Given the description of an element on the screen output the (x, y) to click on. 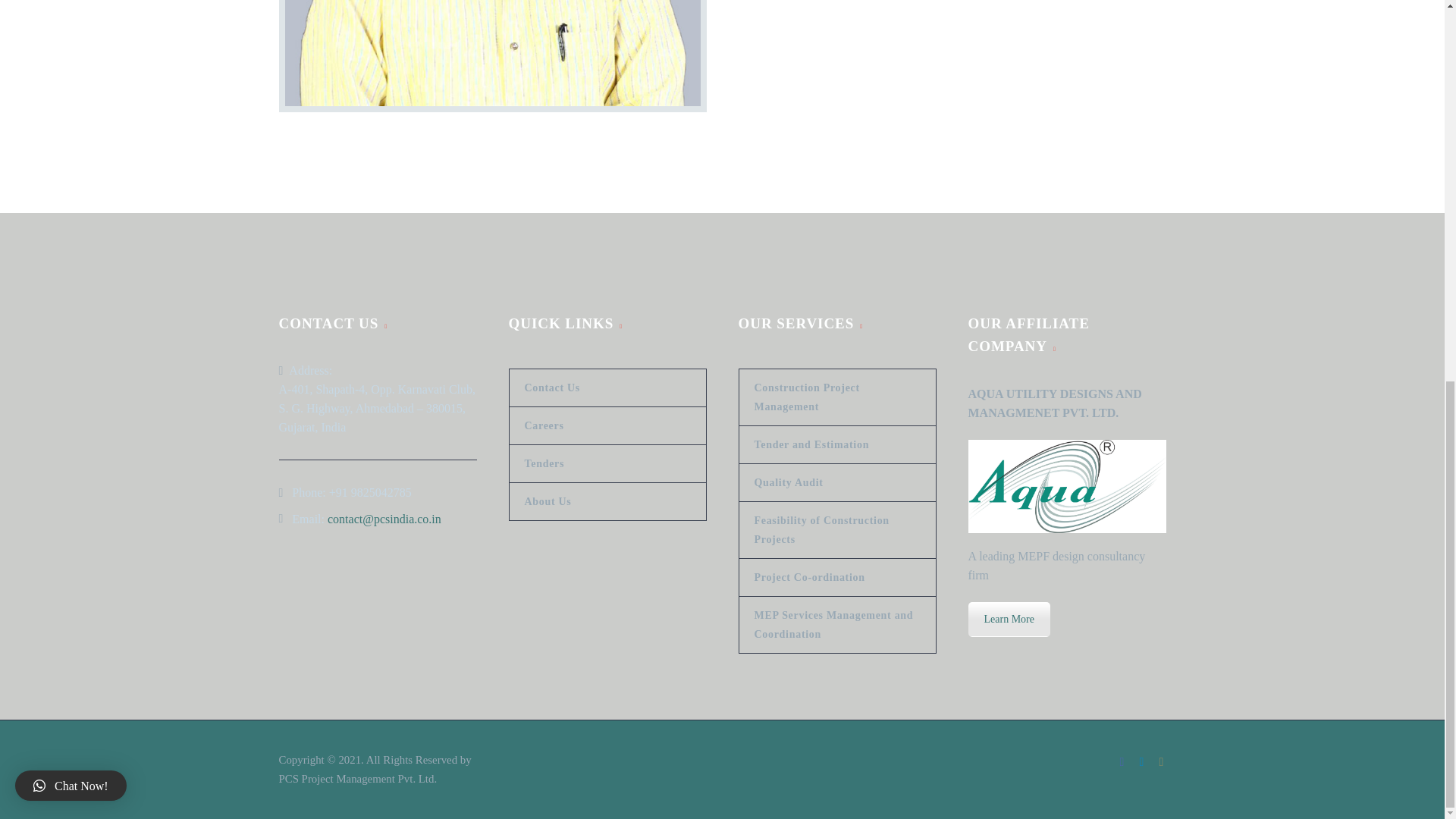
Instagram (1161, 761)
LinkedIn (1141, 761)
Facebook (1122, 761)
